Given the description of an element on the screen output the (x, y) to click on. 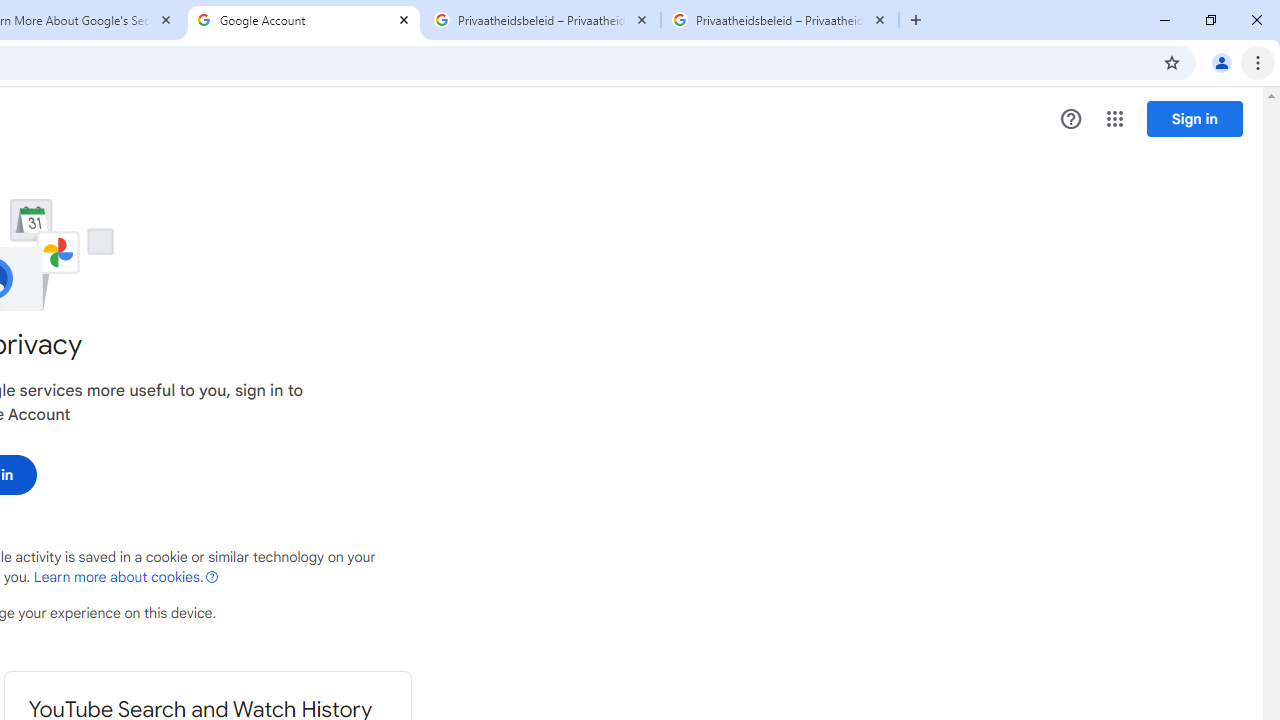
Learn more about cookies (Opens in new tab) (126, 577)
Google Account (304, 20)
